Given the description of an element on the screen output the (x, y) to click on. 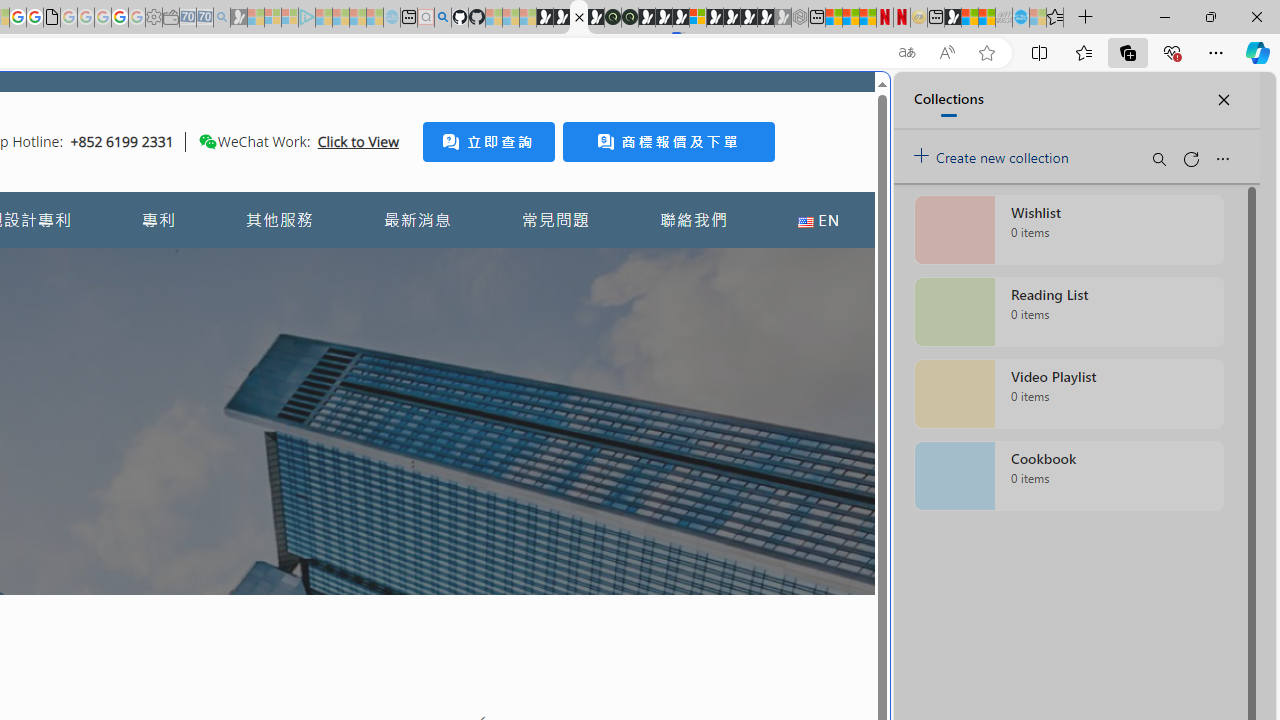
Class: desktop (207, 141)
Search or enter web address (343, 191)
